Given the description of an element on the screen output the (x, y) to click on. 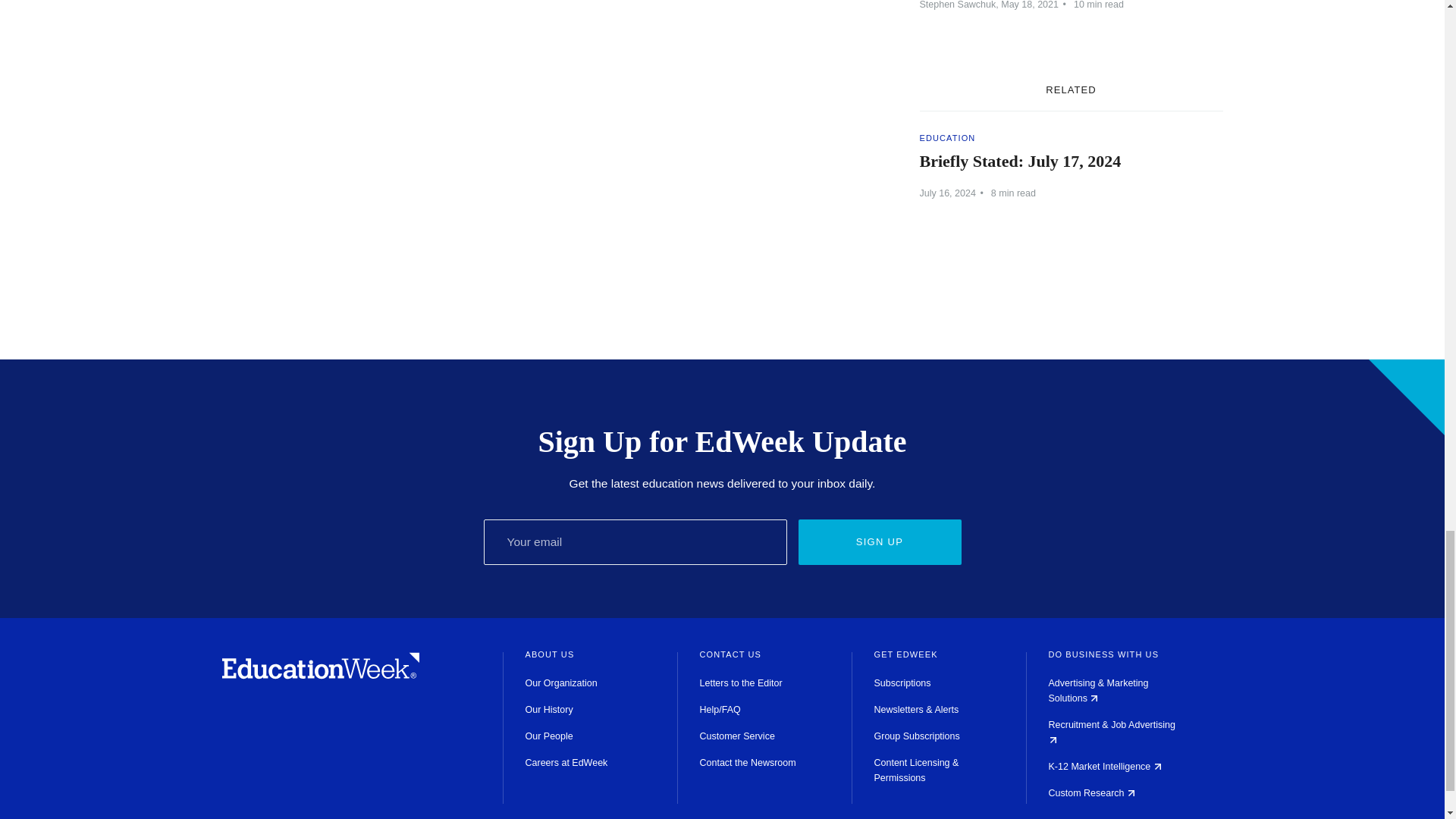
Homepage (320, 675)
